Given the description of an element on the screen output the (x, y) to click on. 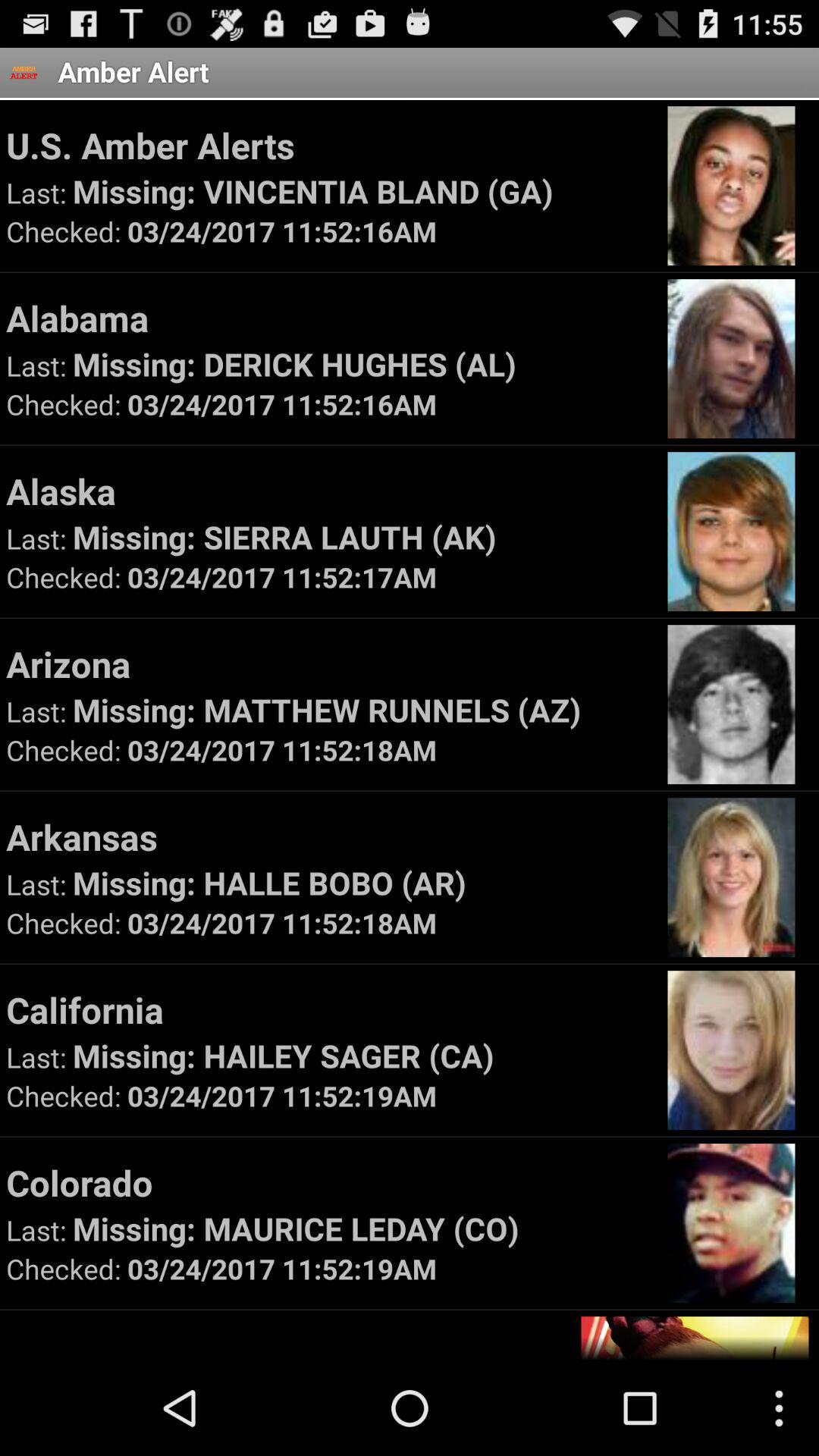
tap u s amber icon (329, 145)
